Given the description of an element on the screen output the (x, y) to click on. 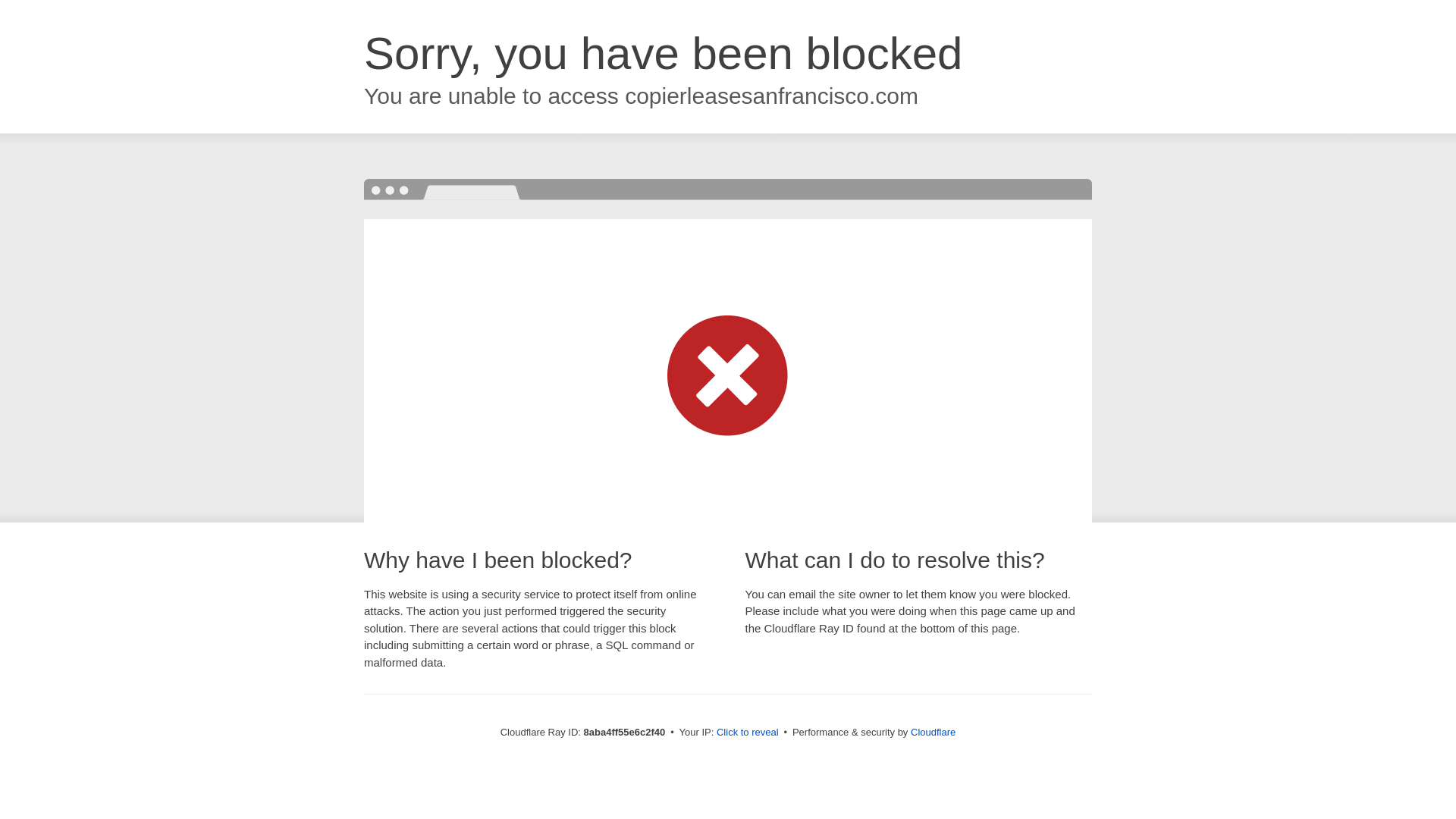
Cloudflare (933, 731)
Click to reveal (747, 732)
